Given the description of an element on the screen output the (x, y) to click on. 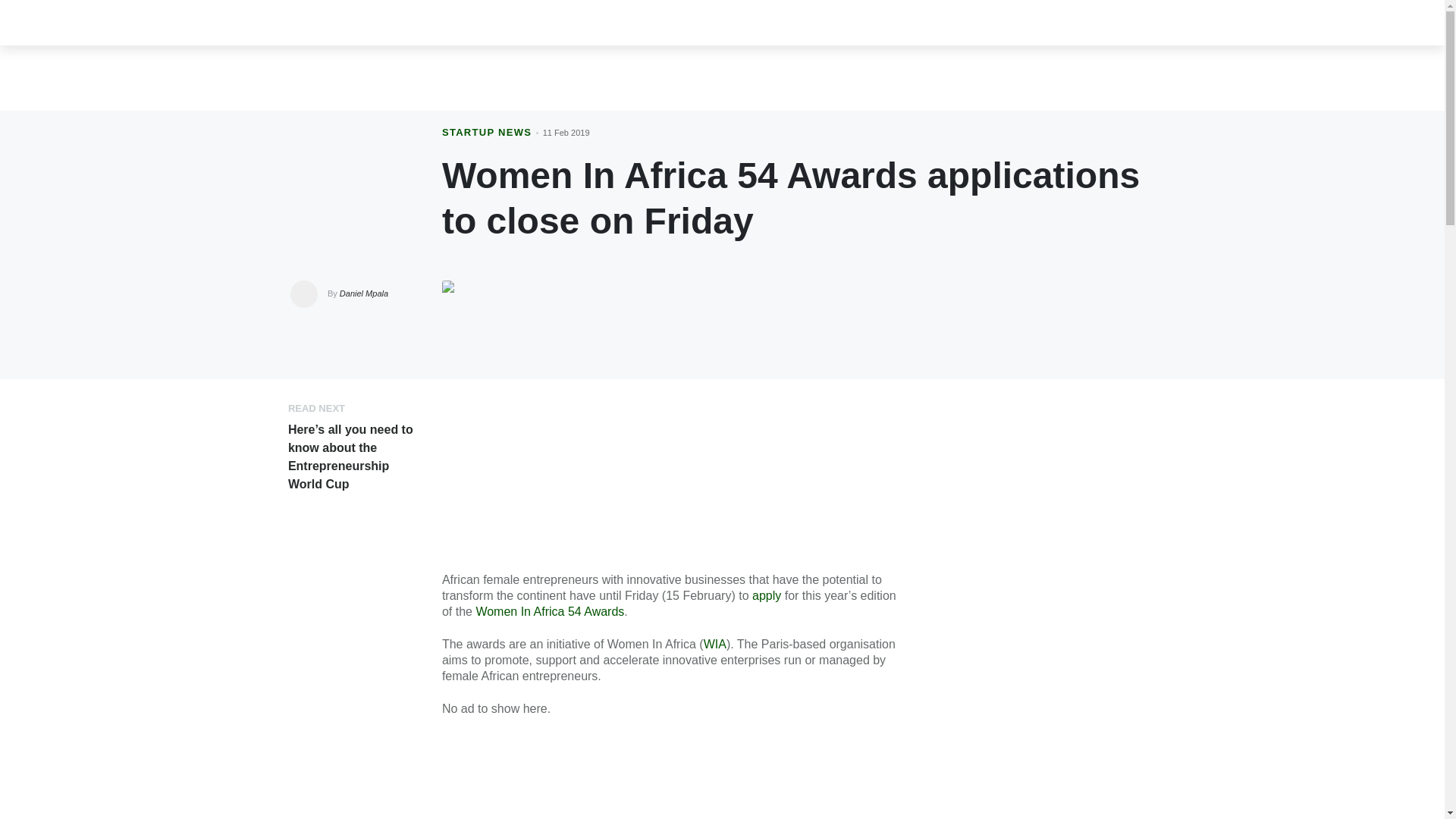
Women In Africa 54 Awards (550, 611)
apply (766, 594)
STARTUP NEWS (486, 132)
11 Feb 2019 (566, 132)
Home (266, 21)
WIA (714, 644)
Daniel Mpala (363, 293)
